Given the description of an element on the screen output the (x, y) to click on. 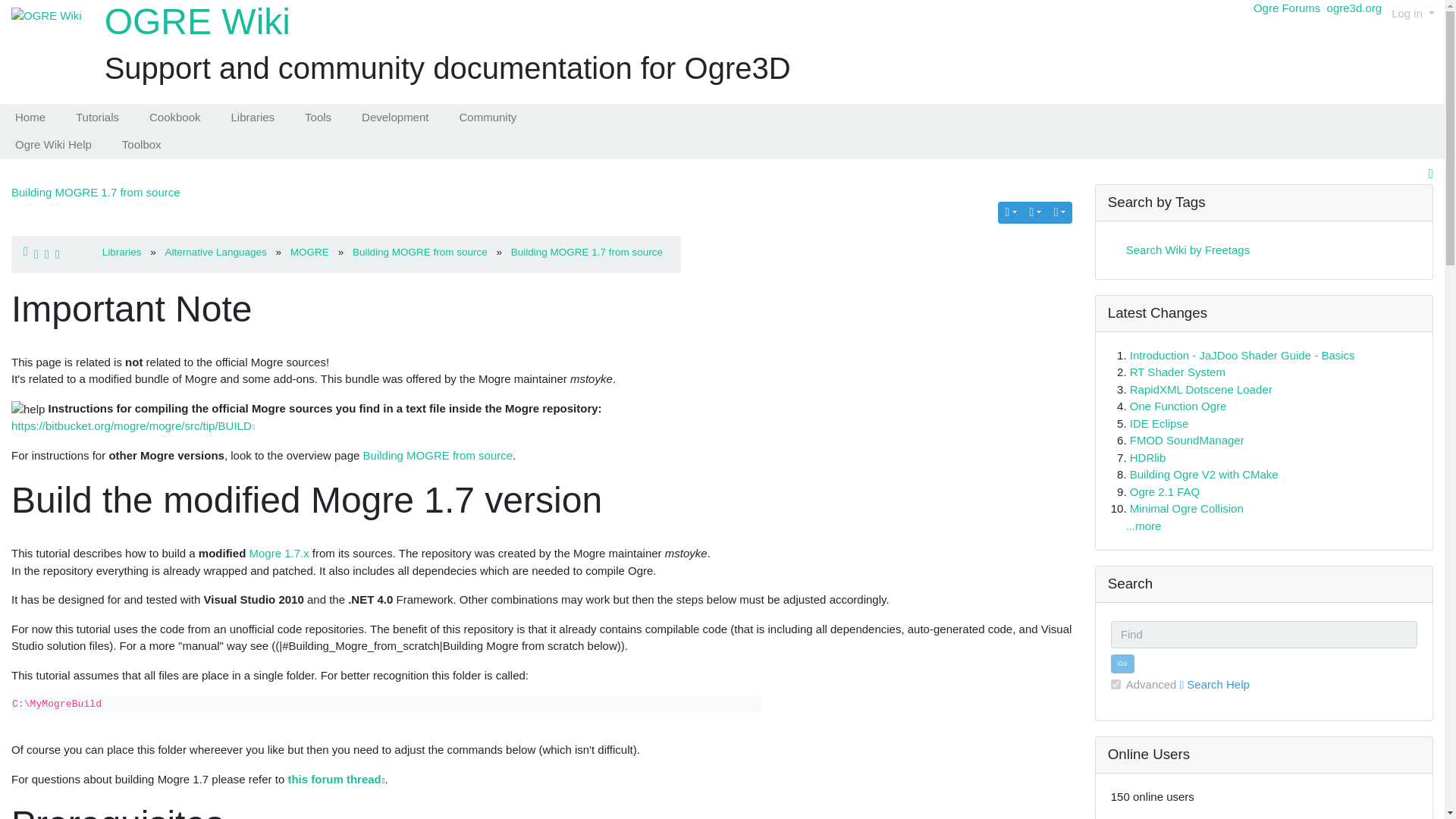
Building MOGRE from source (437, 454)
Backlinks (1010, 212)
on (1115, 684)
Tutorials (97, 117)
Structures (1035, 212)
Cookbook (174, 117)
Ogre Forums (1286, 7)
Go (1122, 663)
ogre3d.org (1353, 7)
ogre3d.org (1353, 7)
